Given the description of an element on the screen output the (x, y) to click on. 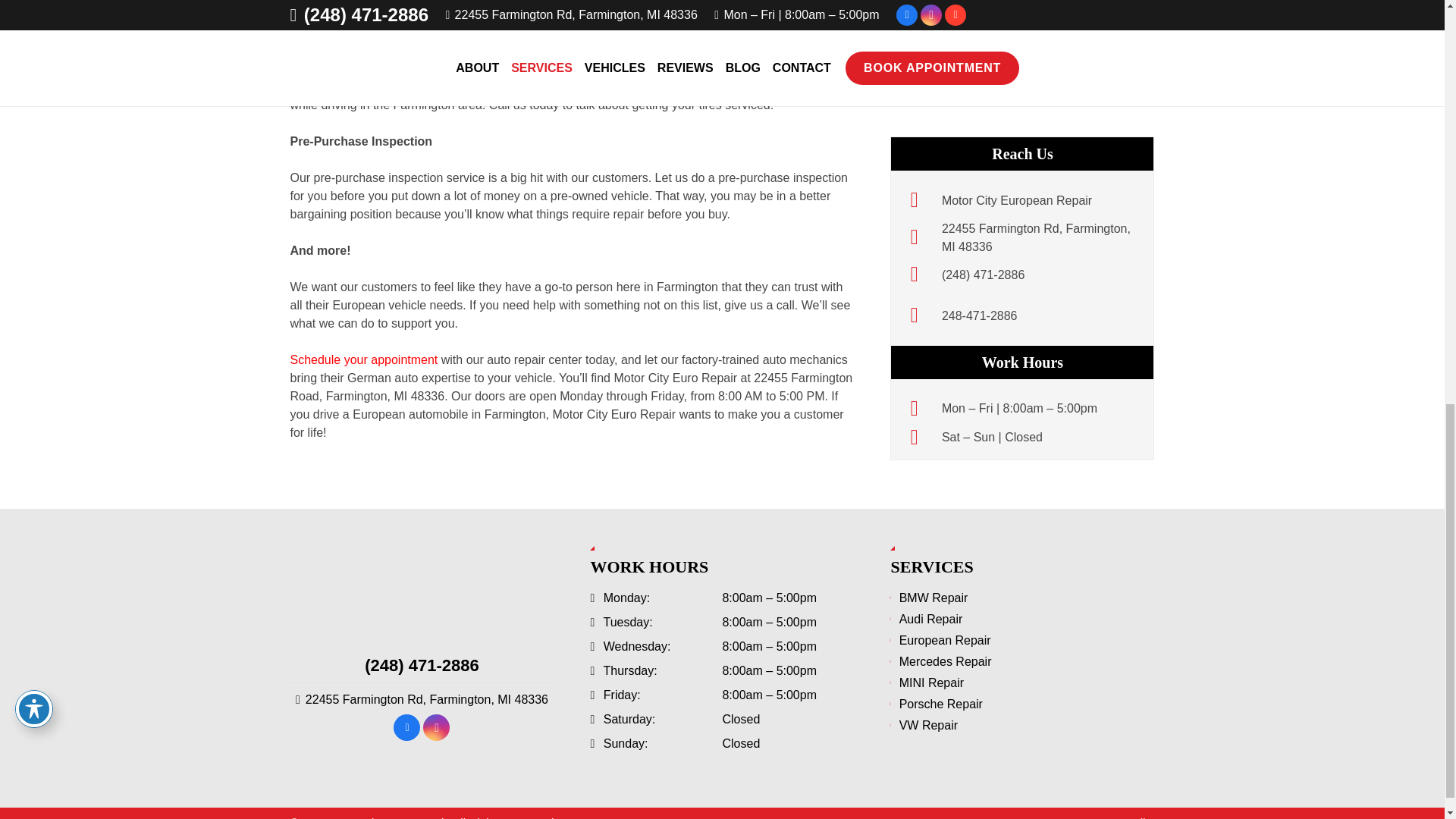
Back to top (1413, 26)
Home (421, 588)
Facebook (406, 727)
Instagram (436, 727)
